Given the description of an element on the screen output the (x, y) to click on. 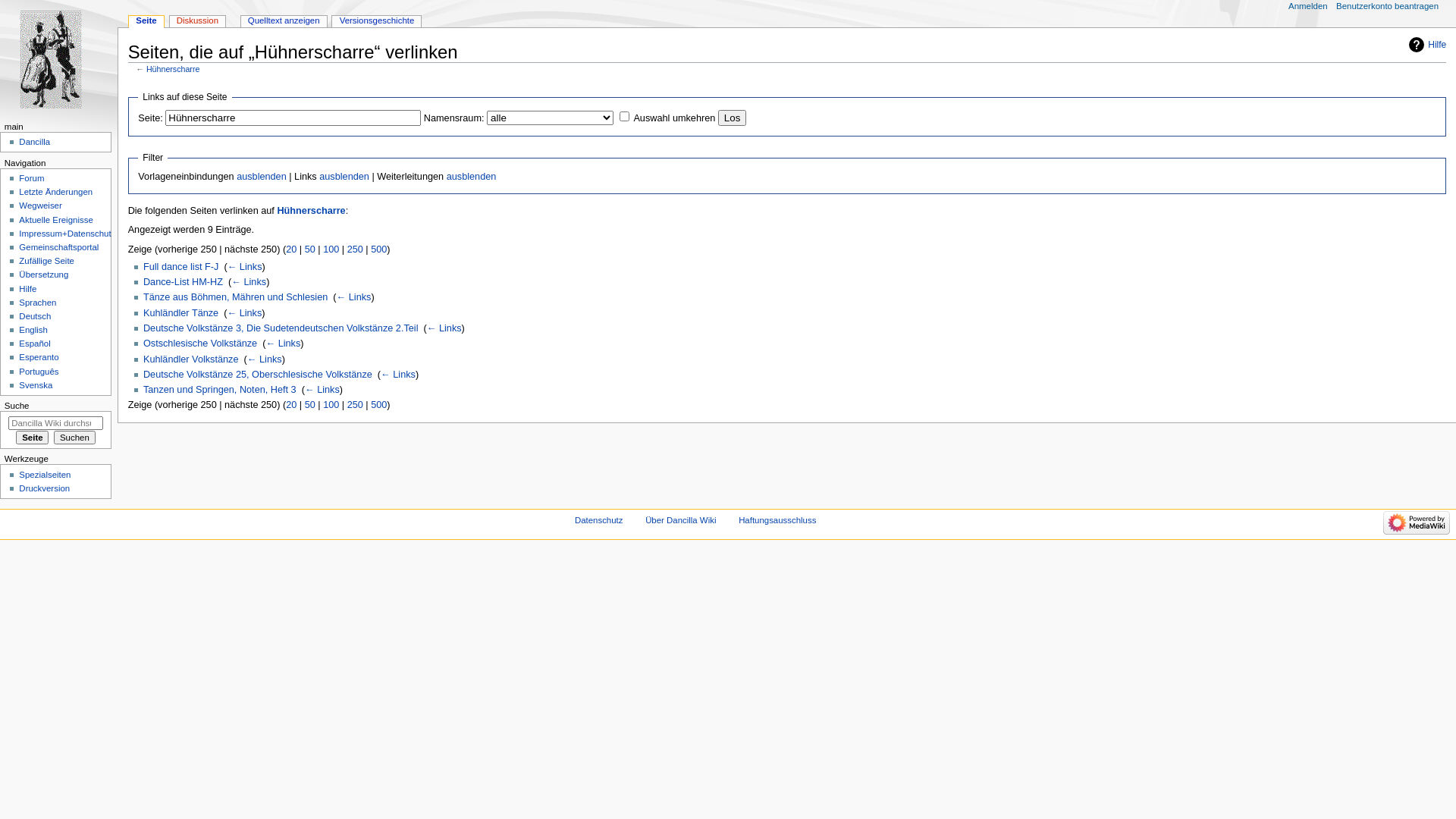
Tanzen und Springen, Noten, Heft 3 Element type: text (219, 389)
Benutzerkonto beantragen Element type: text (1387, 6)
ausblenden Element type: text (344, 176)
500 Element type: text (378, 404)
Suchen Element type: text (74, 437)
Wegweiser Element type: text (39, 205)
Diskussion Element type: text (197, 21)
Hilfe Element type: text (27, 288)
Full dance list F-J Element type: text (180, 266)
Quelltext anzeigen Element type: text (283, 21)
Los Element type: text (732, 117)
Hauptseite Element type: hover (58, 58)
Aktuelle Ereignisse Element type: text (55, 219)
Spezialseiten Element type: text (44, 474)
20 Element type: text (290, 249)
ausblenden Element type: text (261, 176)
Impressum+Datenschutz Element type: text (66, 233)
Suche nach Seiten, die diesen Text enthalten Element type: hover (74, 437)
20 Element type: text (290, 404)
250 Element type: text (355, 404)
Seite Element type: text (145, 21)
100 Element type: text (330, 249)
English Element type: text (32, 329)
Zur Navigation springen Element type: text (127, 84)
Haftungsausschluss Element type: text (776, 519)
Esperanto Element type: text (38, 356)
50 Element type: text (309, 404)
100 Element type: text (330, 404)
Deutsch Element type: text (34, 315)
Versionsgeschichte Element type: text (376, 21)
Dance-List HM-HZ Element type: text (182, 281)
Forum Element type: text (30, 177)
Anmelden Element type: text (1307, 6)
Dancilla Element type: text (34, 141)
Druckversion Element type: text (43, 487)
250 Element type: text (355, 249)
ausblenden Element type: text (471, 176)
Seite Element type: text (31, 437)
Sprachen Element type: text (37, 302)
500 Element type: text (378, 249)
Hilfe Element type: text (1427, 44)
Dancilla Wiki durchsuchen [alt-shift-f] Element type: hover (55, 422)
Datenschutz Element type: text (598, 519)
Svenska Element type: text (35, 384)
50 Element type: text (309, 249)
